Given the description of an element on the screen output the (x, y) to click on. 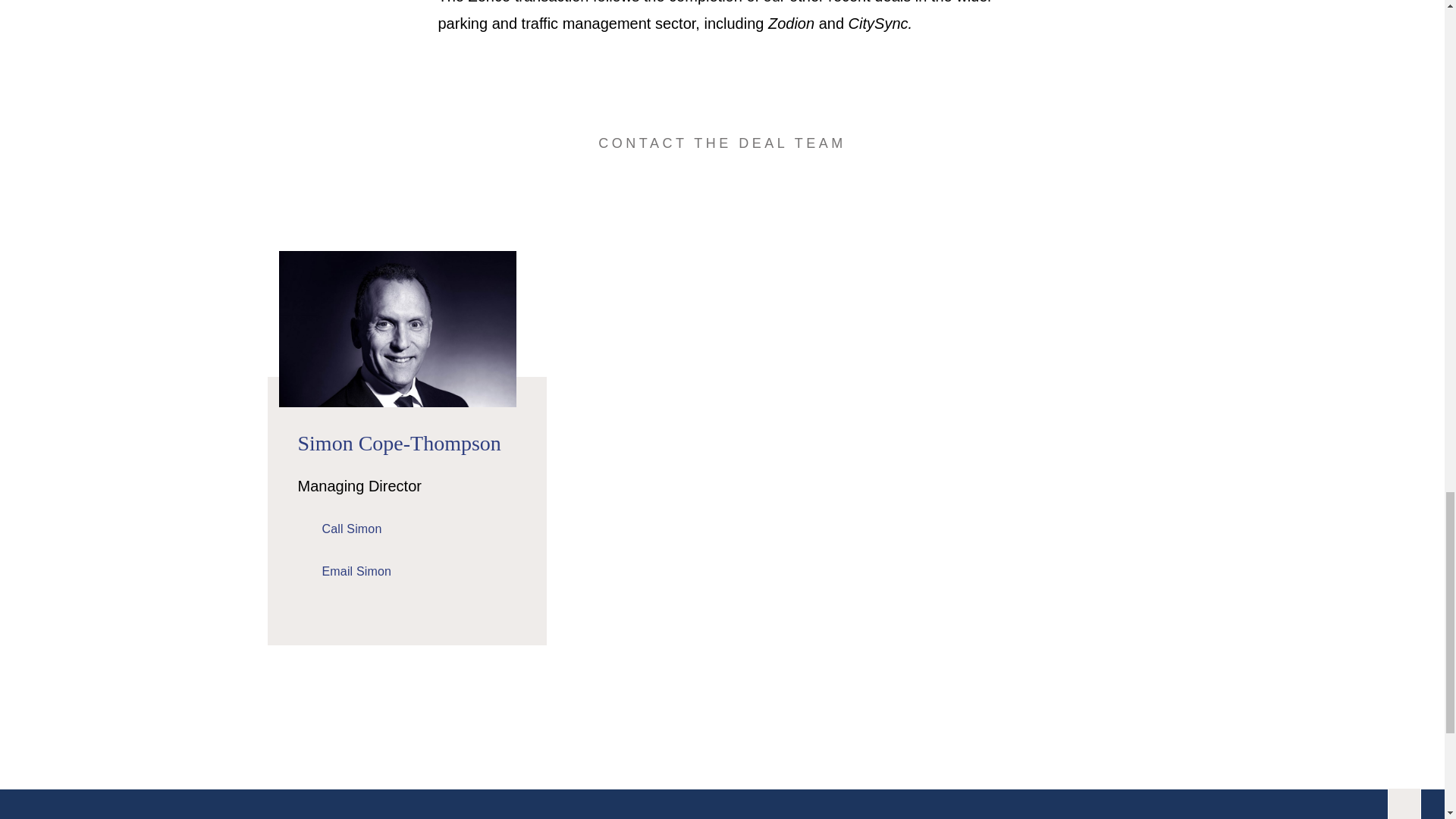
Email Simon (344, 571)
Call Simon (339, 529)
Simon Cope-Thompson (398, 443)
